Given the description of an element on the screen output the (x, y) to click on. 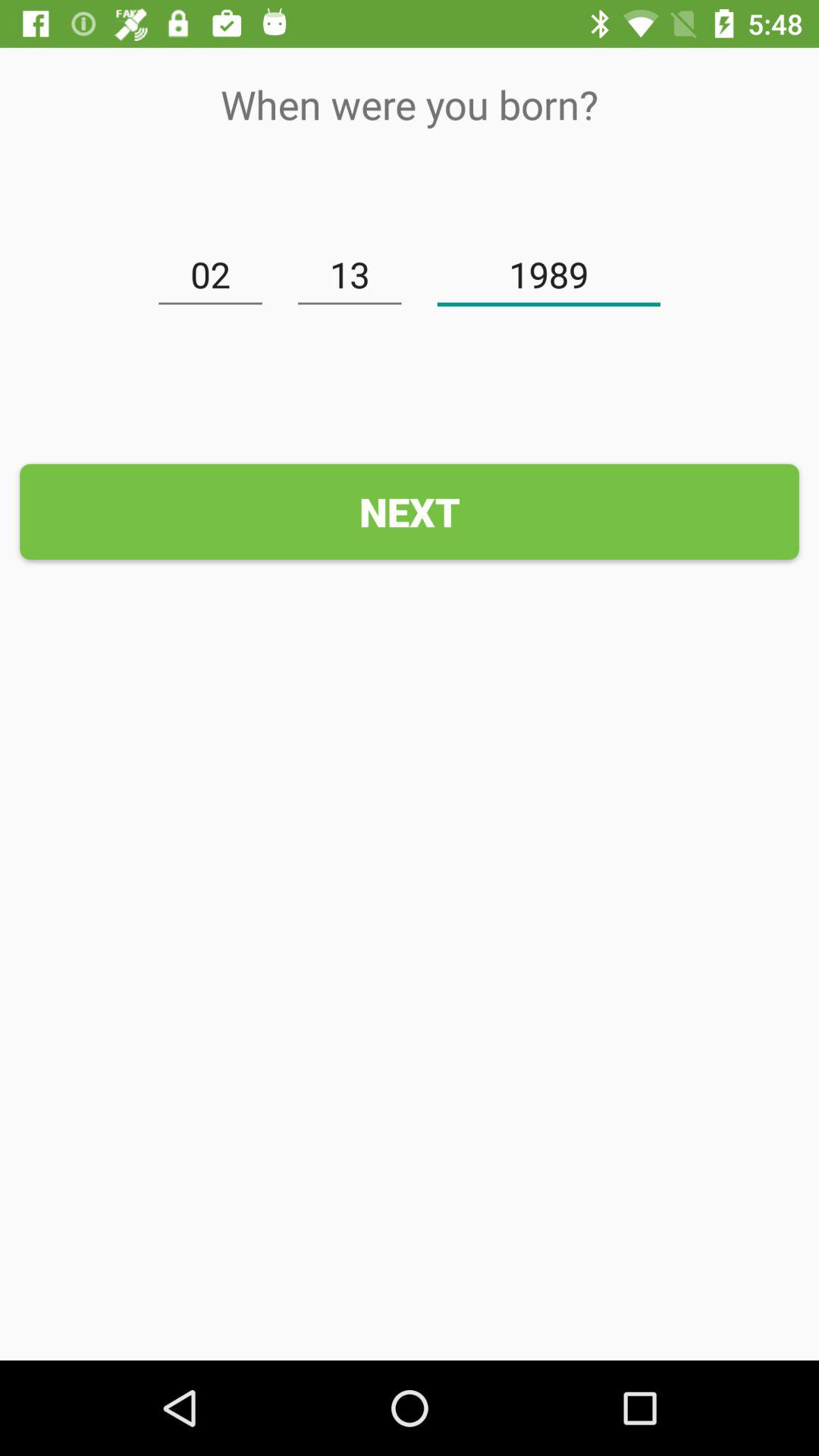
launch the icon above the next (349, 275)
